Given the description of an element on the screen output the (x, y) to click on. 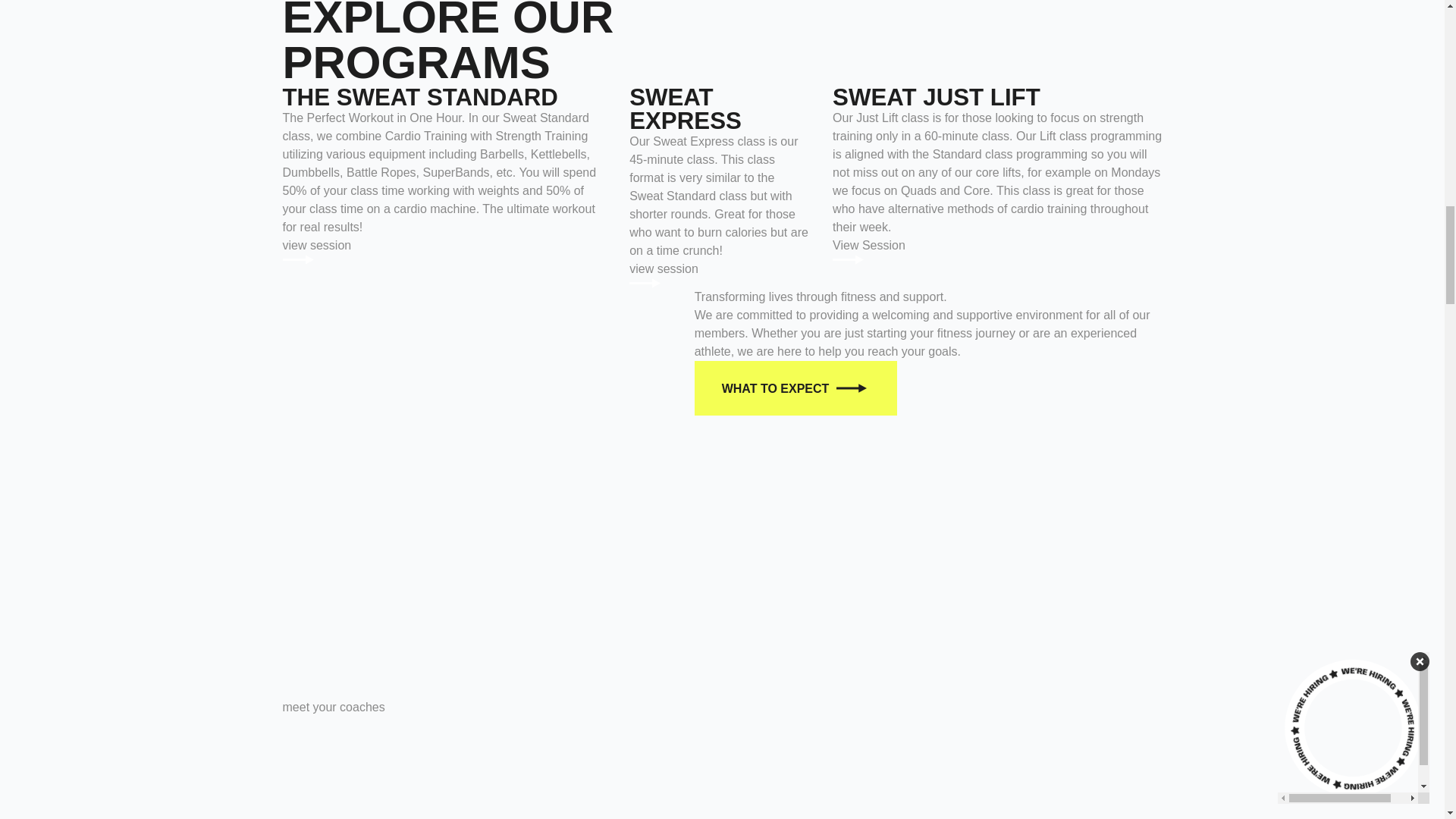
WHAT TO EXPECT (722, 775)
